Given the description of an element on the screen output the (x, y) to click on. 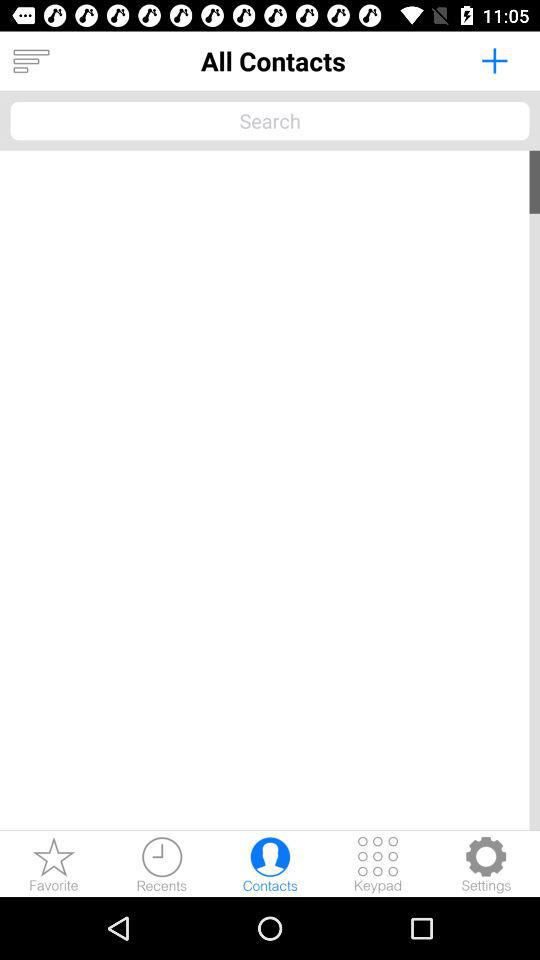
tap the item at the top right corner (494, 60)
